Given the description of an element on the screen output the (x, y) to click on. 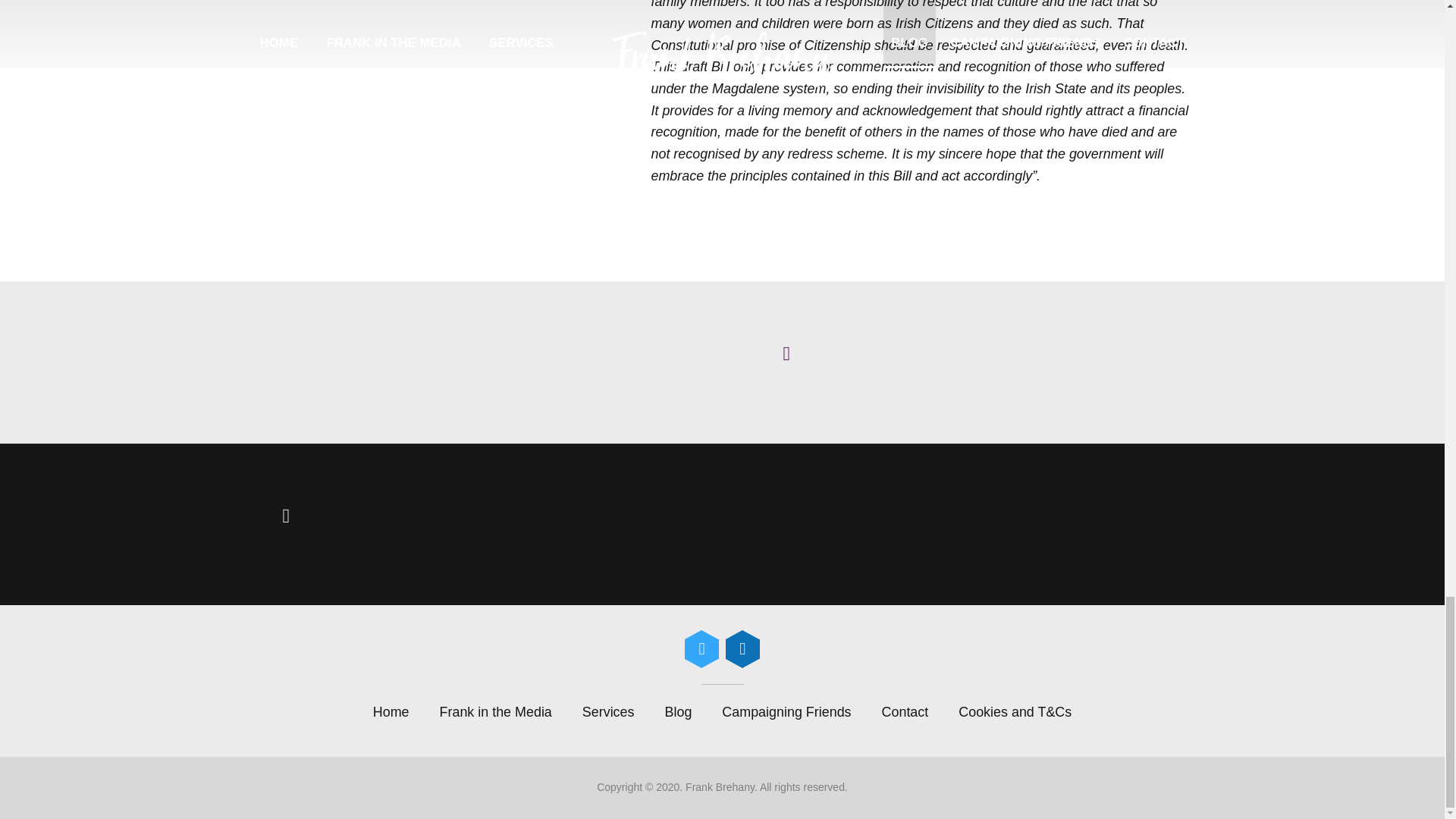
Frank in the Media (496, 711)
Services (608, 711)
Home (391, 711)
Contact (904, 711)
Campaigning Friends (786, 711)
Blog (677, 711)
